Given the description of an element on the screen output the (x, y) to click on. 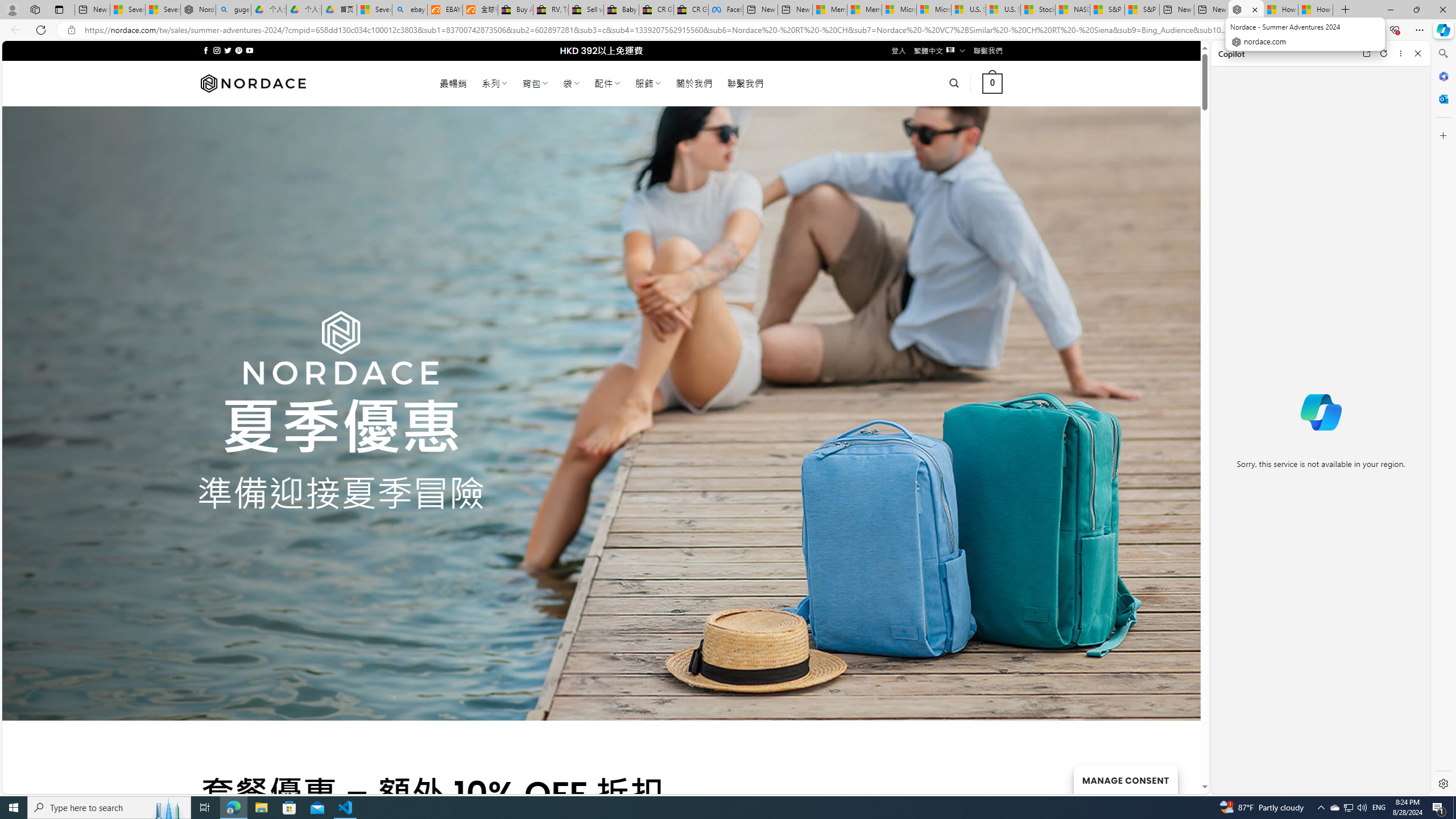
  0   (992, 83)
Customize (1442, 135)
Facebook (725, 9)
S&P 500, Nasdaq end lower, weighed by Nvidia dip | Watch (1141, 9)
Follow on Instagram (216, 50)
